Given the description of an element on the screen output the (x, y) to click on. 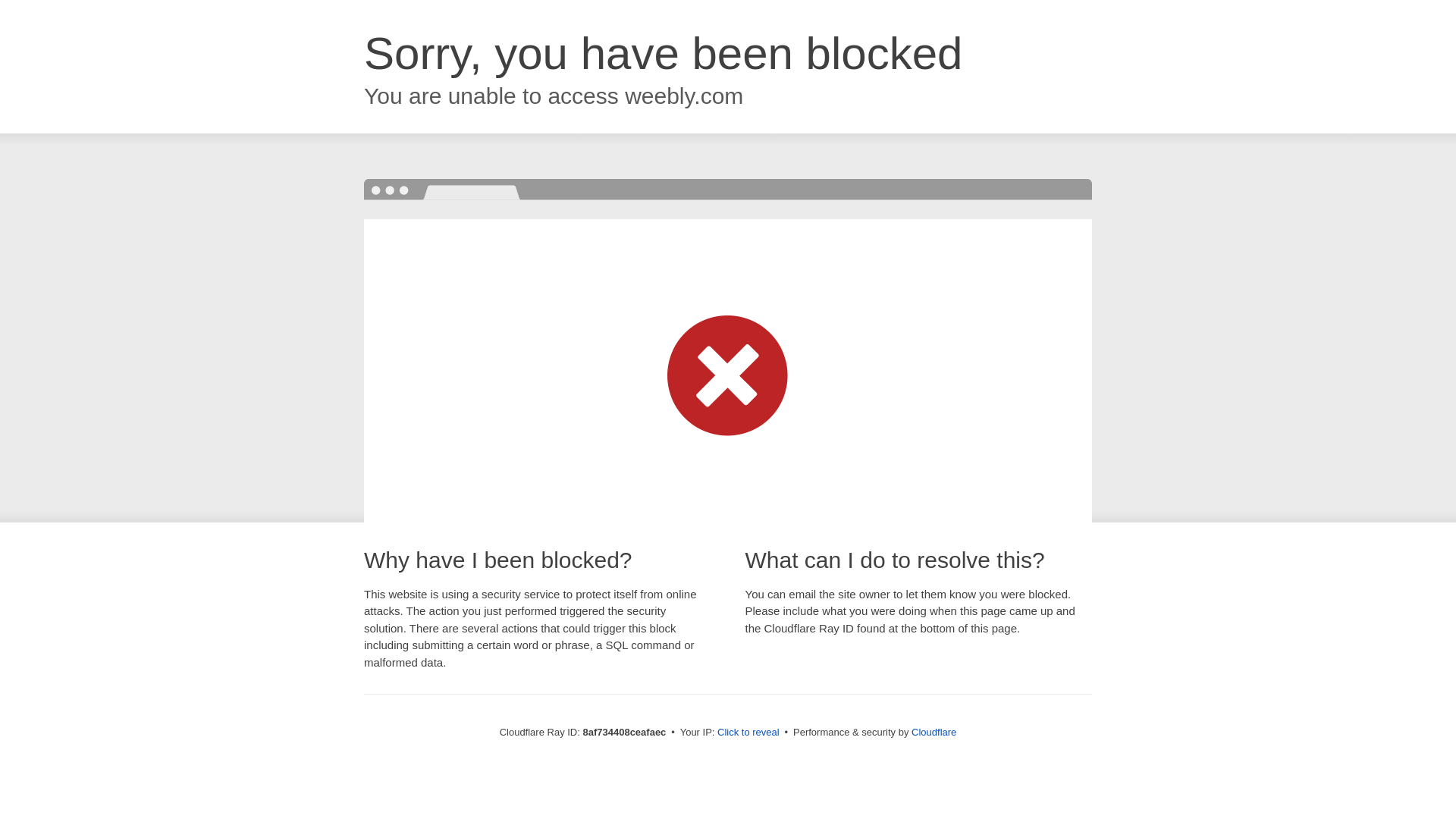
Click to reveal (747, 732)
Cloudflare (933, 731)
